Given the description of an element on the screen output the (x, y) to click on. 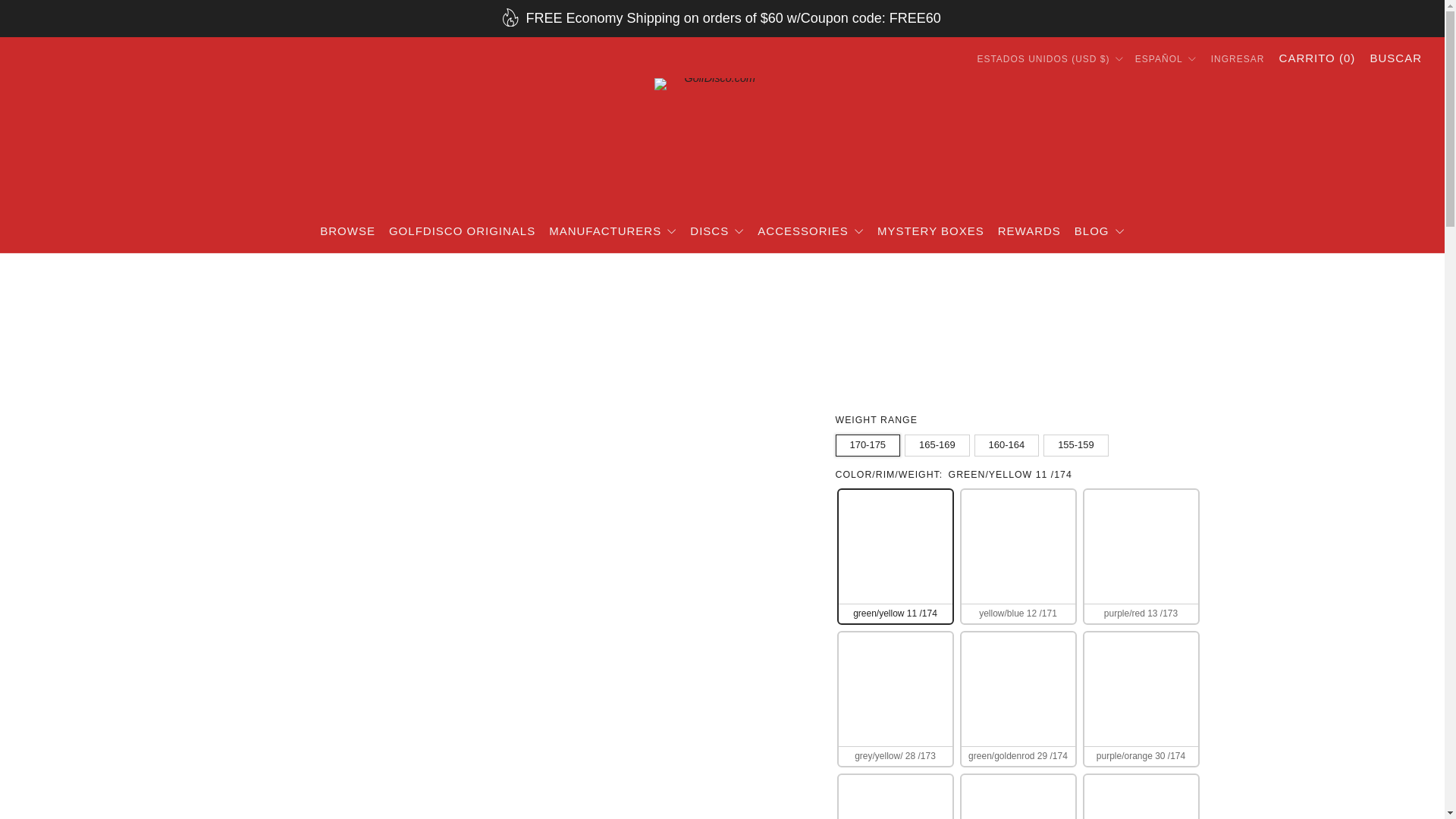
GOLFDISCO ORIGINALS (461, 231)
MANUFACTURERS (612, 231)
ACCESSORIES (810, 231)
BROWSE (347, 231)
155-159 (1078, 441)
165-169 (939, 441)
DISCS (717, 231)
160-164 (1008, 441)
170-175 (870, 441)
MYSTERY BOXES (930, 231)
